Given the description of an element on the screen output the (x, y) to click on. 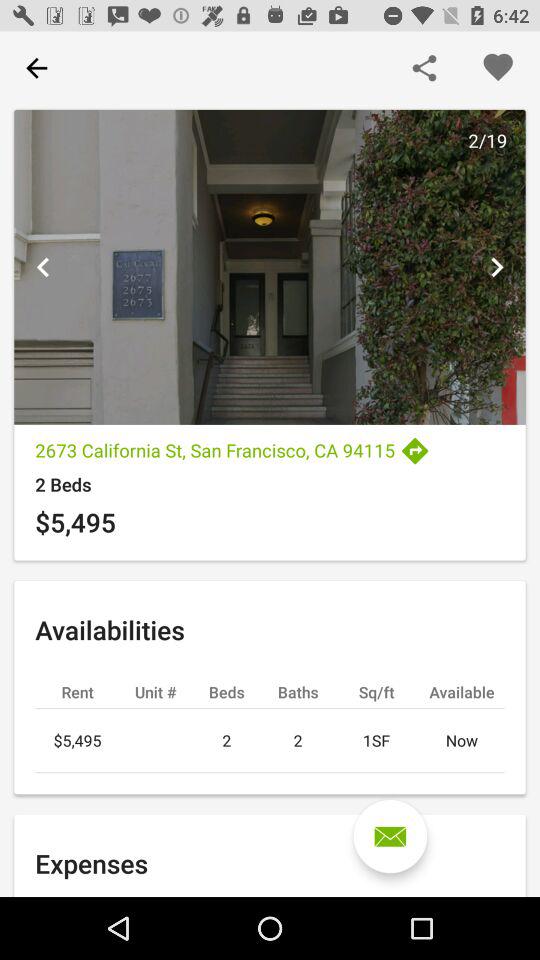
go to previous advertisement (43, 267)
